Given the description of an element on the screen output the (x, y) to click on. 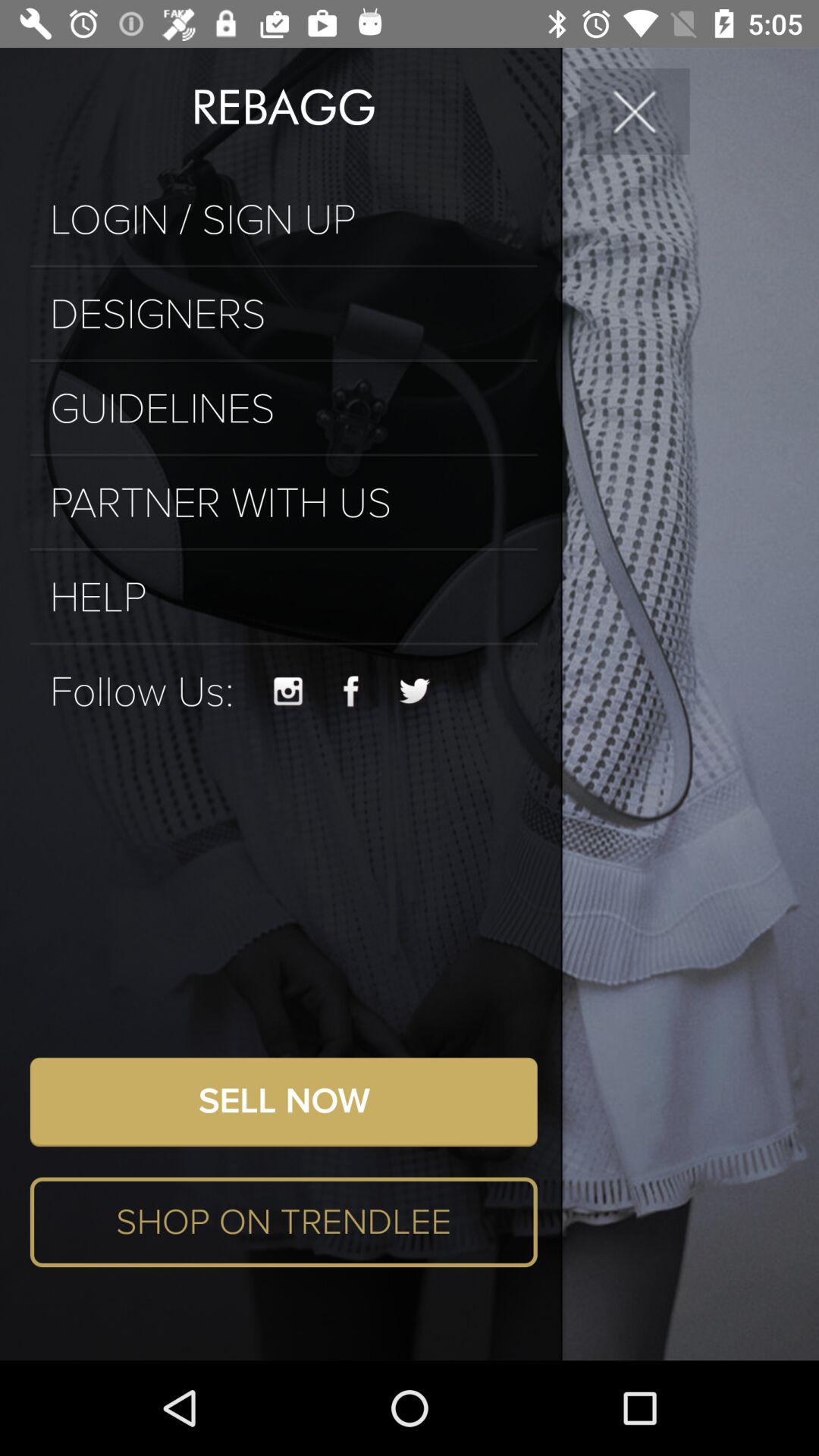
press the icon above the sell now icon (288, 691)
